Given the description of an element on the screen output the (x, y) to click on. 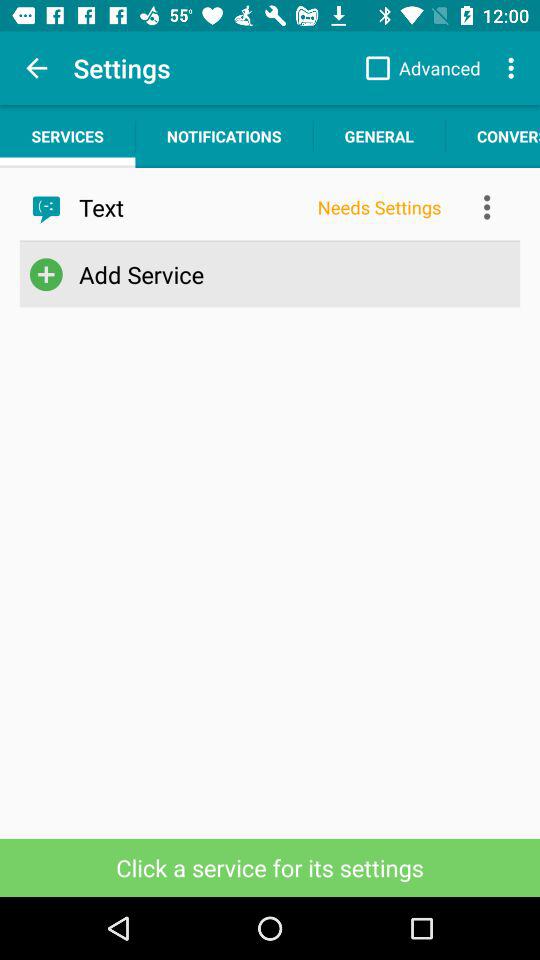
choose the app next to the settings app (36, 68)
